Given the description of an element on the screen output the (x, y) to click on. 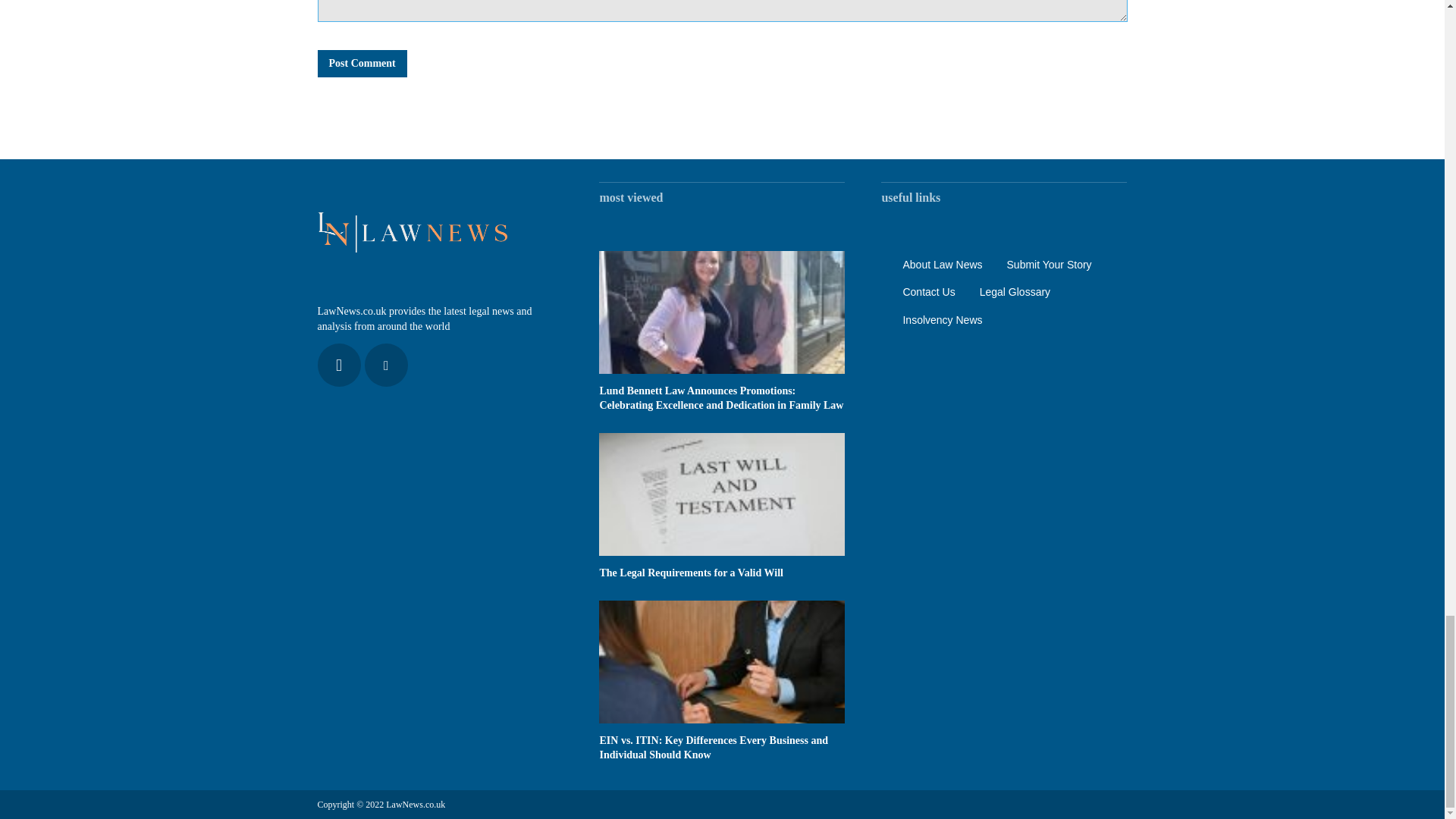
Post Comment (361, 62)
